Given the description of an element on the screen output the (x, y) to click on. 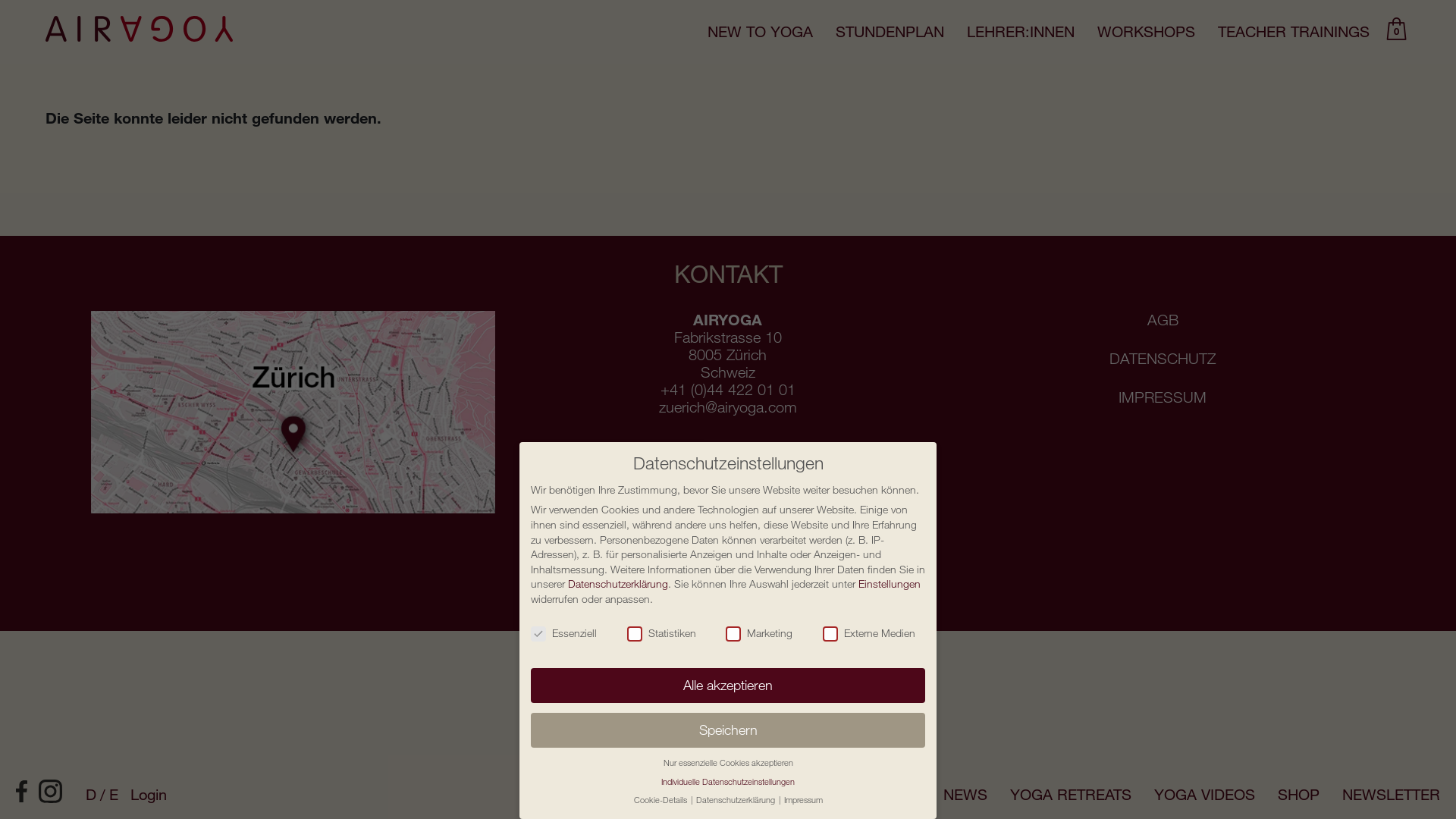
PREISE Element type: text (869, 56)
E Element type: text (113, 793)
D Element type: text (97, 793)
YOGA RETREATS Element type: text (1070, 794)
NEWSLETTER Element type: text (1391, 794)
Nur essenzielle Cookies akzeptieren Element type: text (727, 762)
LEHRER:INNEN Element type: text (1020, 31)
Cookie-Details Element type: text (661, 799)
WORKSHOPS Element type: text (1146, 31)
NEWS Element type: text (965, 794)
SHOP Element type: text (1298, 794)
AGB Element type: text (1162, 319)
TEACHER TRAININGS Element type: text (1293, 31)
+41 (0)44 422 01 01 Element type: text (727, 389)
Impressum Element type: text (803, 799)
zuerich@airyoga.com Element type: text (727, 406)
IMPRESSUM Element type: text (1162, 396)
Individuelle Datenschutzeinstellungen Element type: text (727, 781)
Studio Fabrikstrasse Element type: hover (293, 411)
Speichern Element type: text (727, 729)
ABOUT Element type: text (894, 794)
STUNDENPLAN Element type: text (889, 31)
Login Element type: text (148, 794)
NEW TO YOGA Element type: text (759, 31)
DATENSCHUTZ Element type: text (1162, 358)
ABO BESTIMMUNGEN Element type: text (920, 77)
Alle akzeptieren Element type: text (727, 685)
YOGA VIDEOS Element type: text (1204, 794)
RESERVATIONS BESTIMMUNGEN Element type: text (959, 97)
Einstellungen Element type: text (889, 583)
